Given the description of an element on the screen output the (x, y) to click on. 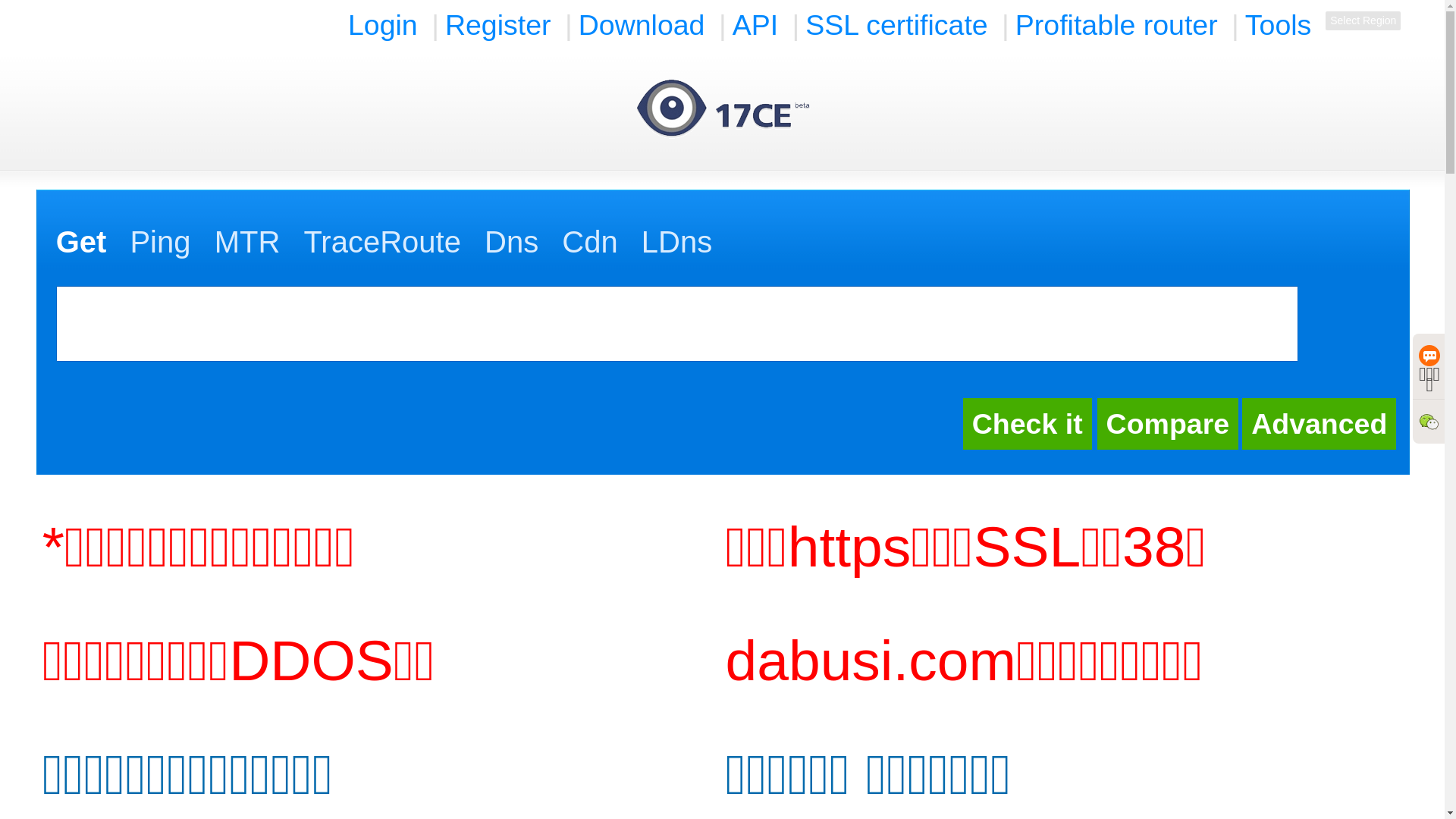
Cdn Element type: text (589, 241)
Compare Element type: text (1168, 423)
Check it Element type: text (1027, 423)
Download Element type: text (641, 24)
LDns Element type: text (676, 241)
TraceRoute Element type: text (382, 241)
API Element type: text (755, 24)
Profitable router Element type: text (1116, 24)
SSL certificate Element type: text (896, 24)
Register Element type: text (498, 24)
Ping Element type: text (159, 241)
Login Element type: text (382, 24)
Tools Element type: text (1278, 24)
Advanced Element type: text (1319, 423)
Select Region Element type: text (1362, 20)
MTR Element type: text (247, 241)
Dns Element type: text (511, 241)
Get Element type: text (81, 241)
